Given the description of an element on the screen output the (x, y) to click on. 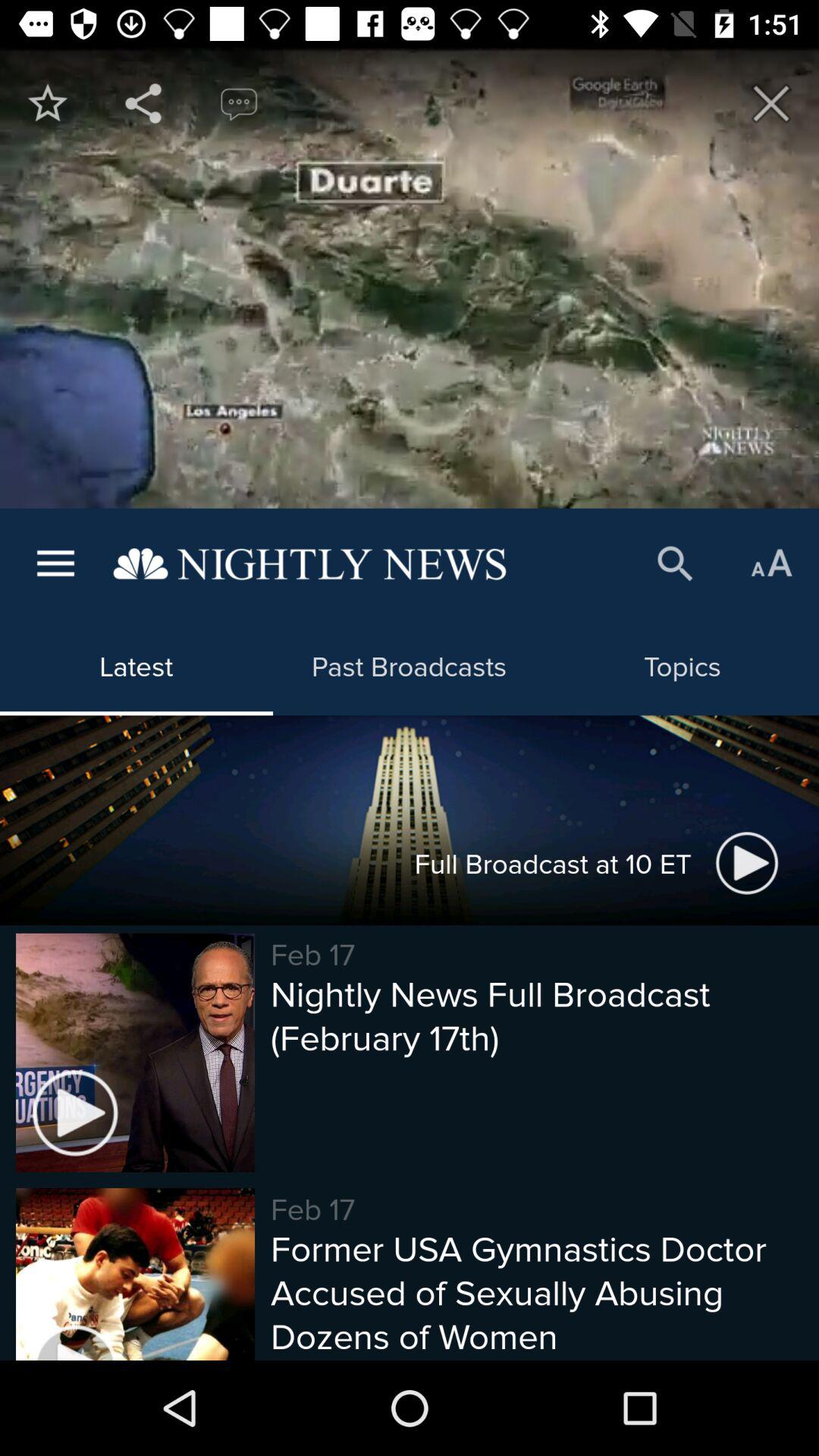
share (143, 103)
